Given the description of an element on the screen output the (x, y) to click on. 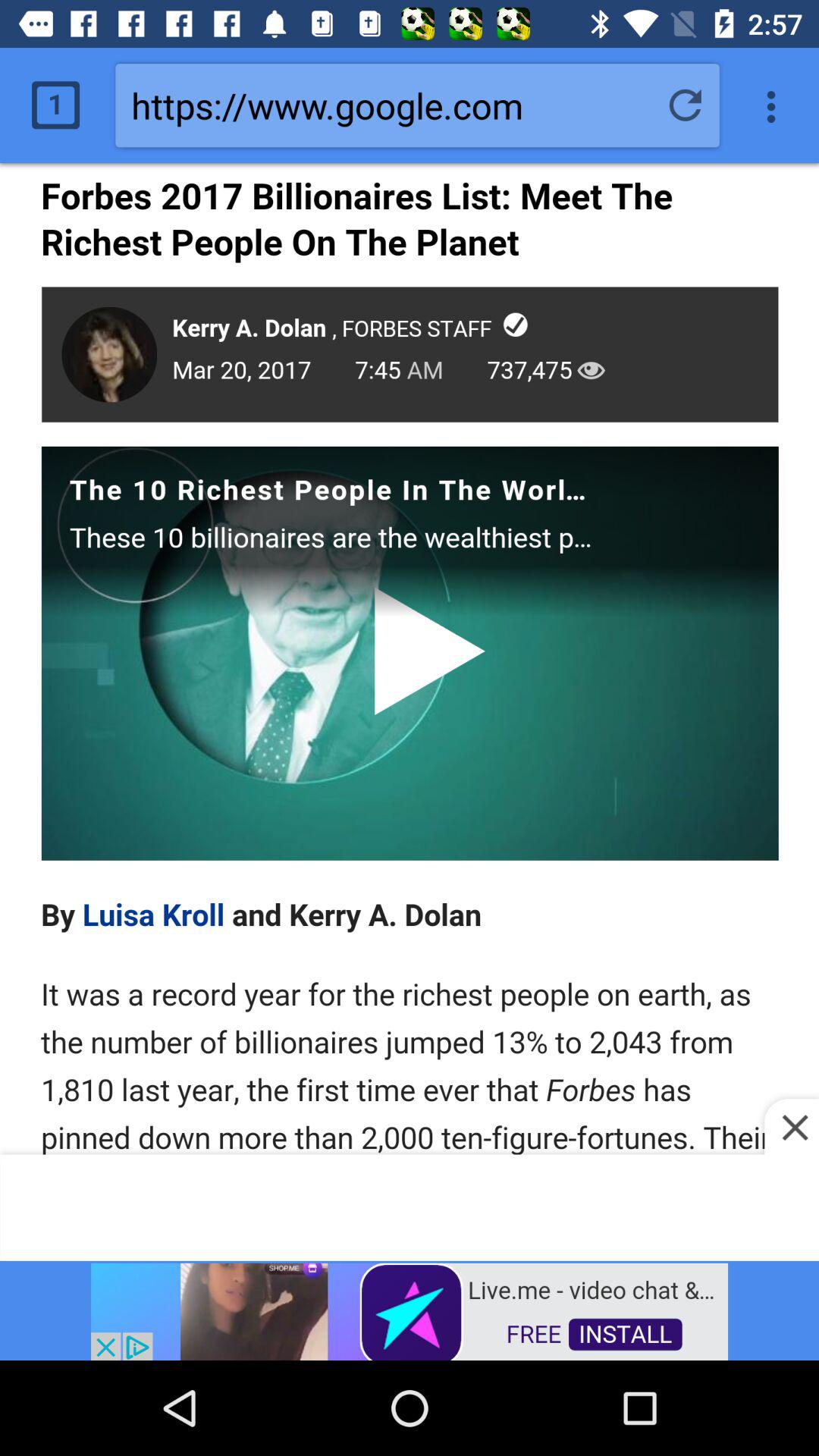
go to advertisement (409, 1310)
